Given the description of an element on the screen output the (x, y) to click on. 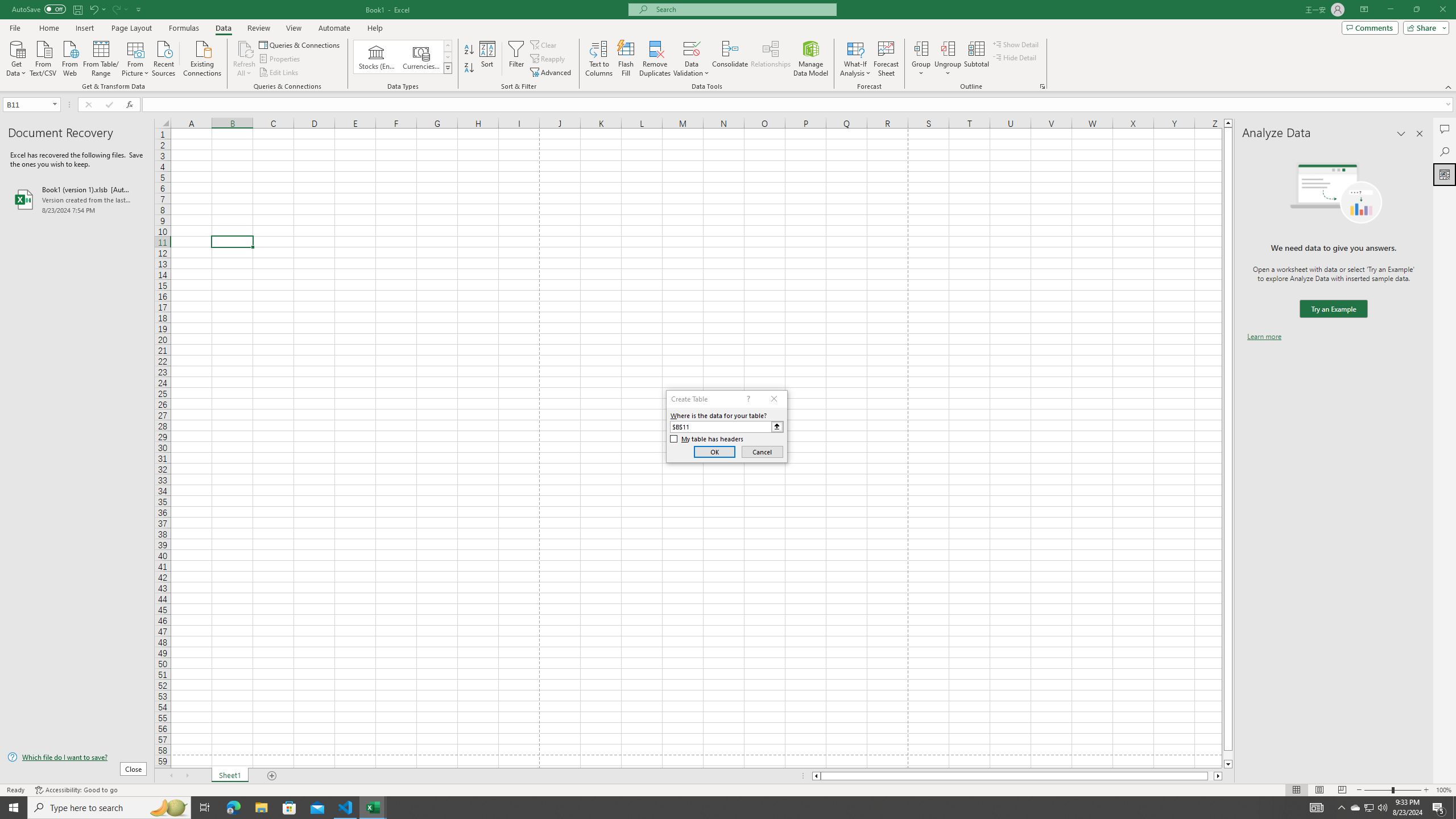
Refresh All (244, 48)
Filter (515, 58)
Microsoft search (742, 9)
Review (258, 28)
Currencies (English) (420, 56)
Queries & Connections (300, 44)
What-If Analysis (855, 58)
Formula Bar (799, 104)
Edit Links (279, 72)
Class: NetUIScrollBar (1016, 775)
Group... (921, 58)
Refresh All (244, 58)
File Tab (15, 27)
Comments (1444, 128)
Scroll Left (171, 775)
